Given the description of an element on the screen output the (x, y) to click on. 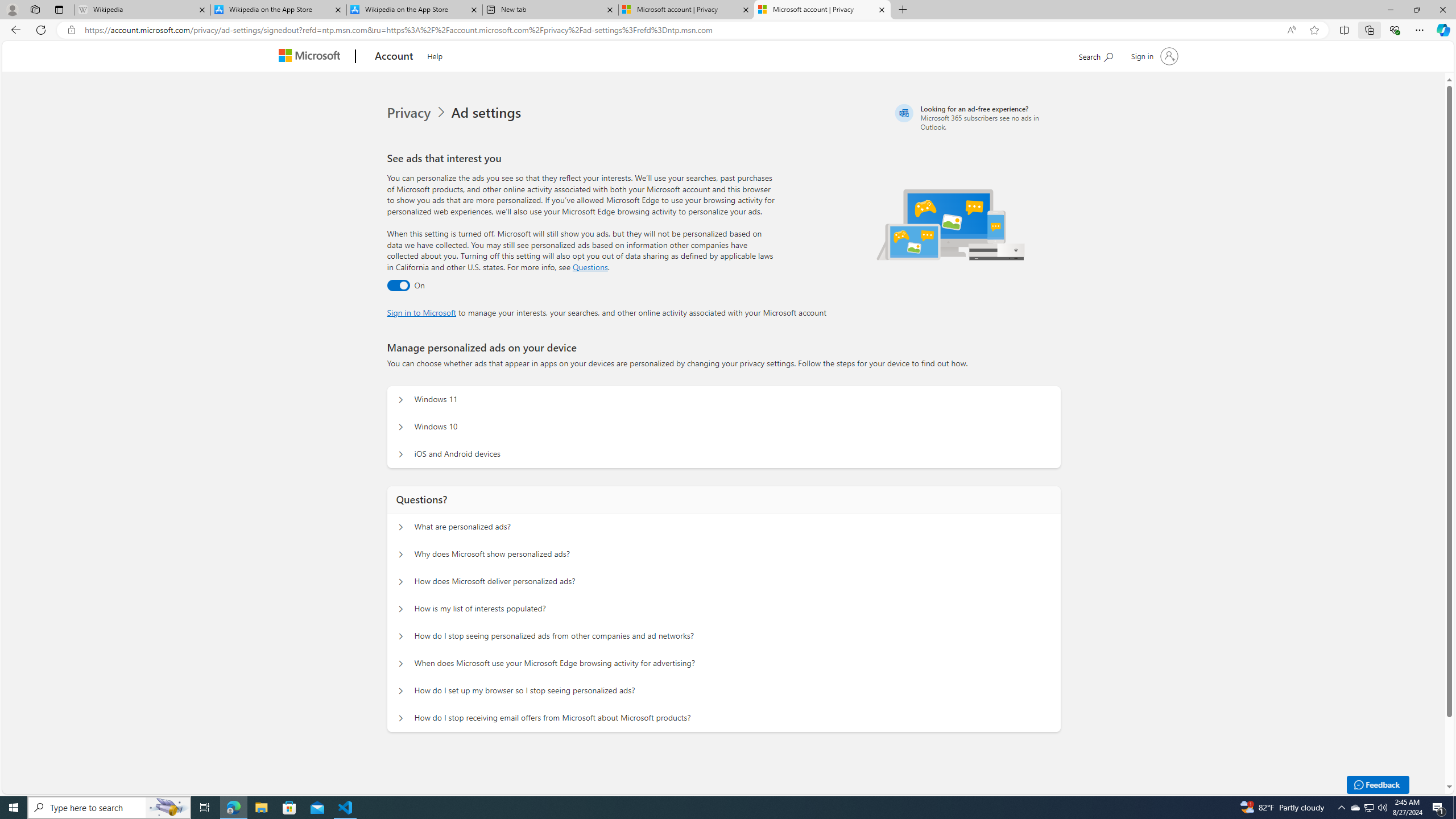
Privacy (410, 112)
Account (394, 56)
Privacy (418, 112)
Help (434, 54)
Ad settings (488, 112)
